Given the description of an element on the screen output the (x, y) to click on. 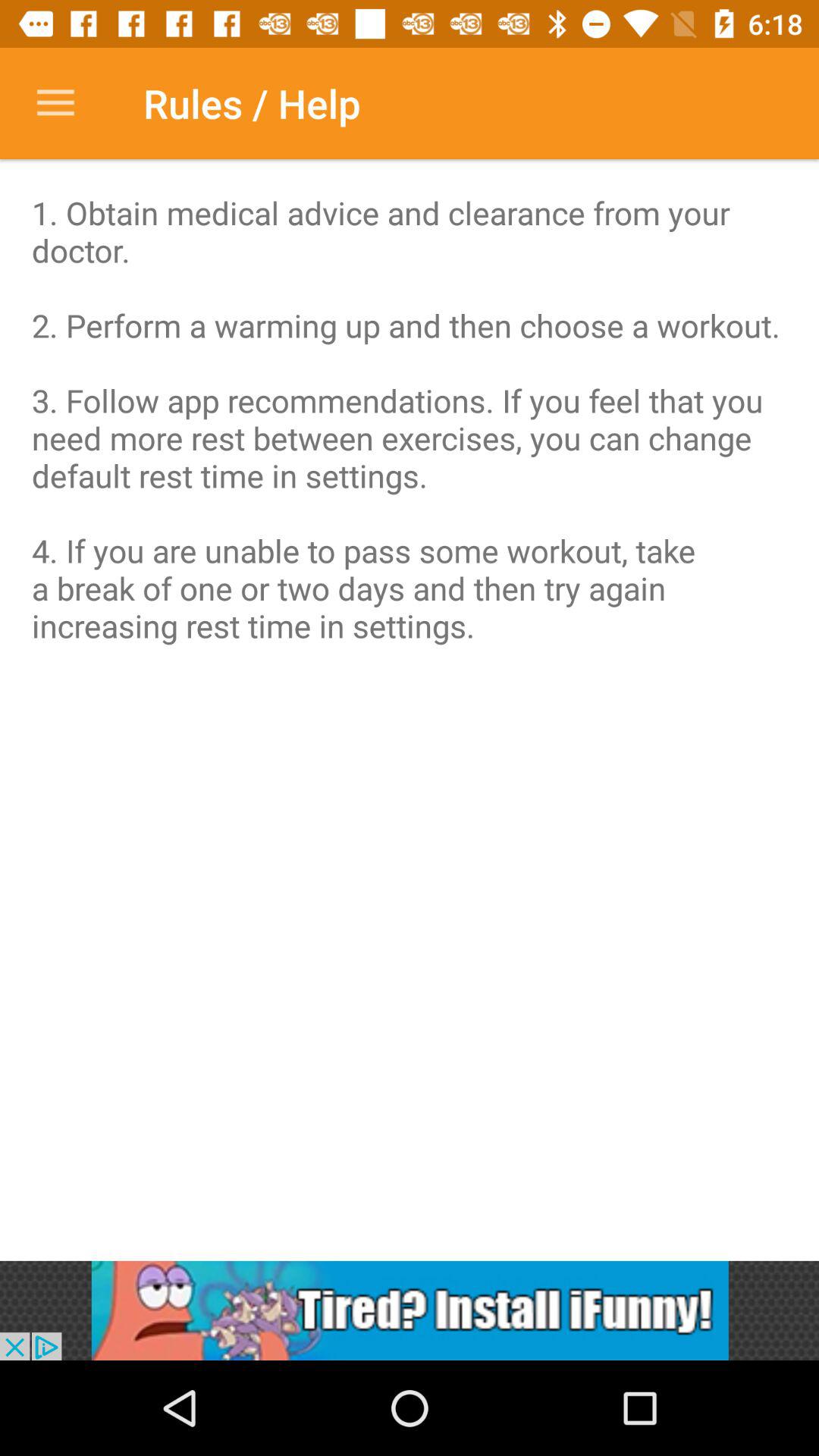
advertisement (409, 1310)
